Given the description of an element on the screen output the (x, y) to click on. 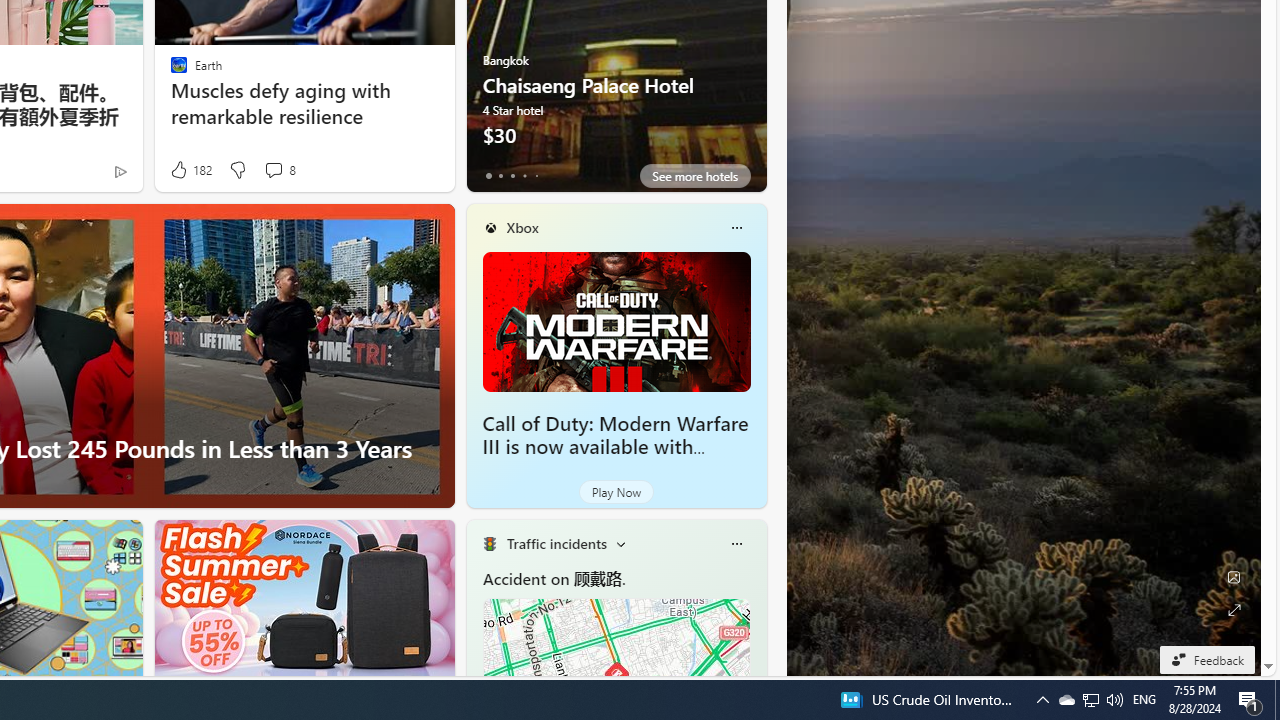
Expand background (1233, 610)
View comments 8 Comment (279, 170)
See more hotels (694, 175)
182 Like (190, 170)
Edit Background (1233, 577)
Traffic incidents (555, 543)
tab-2 (511, 175)
tab-4 (535, 175)
